Given the description of an element on the screen output the (x, y) to click on. 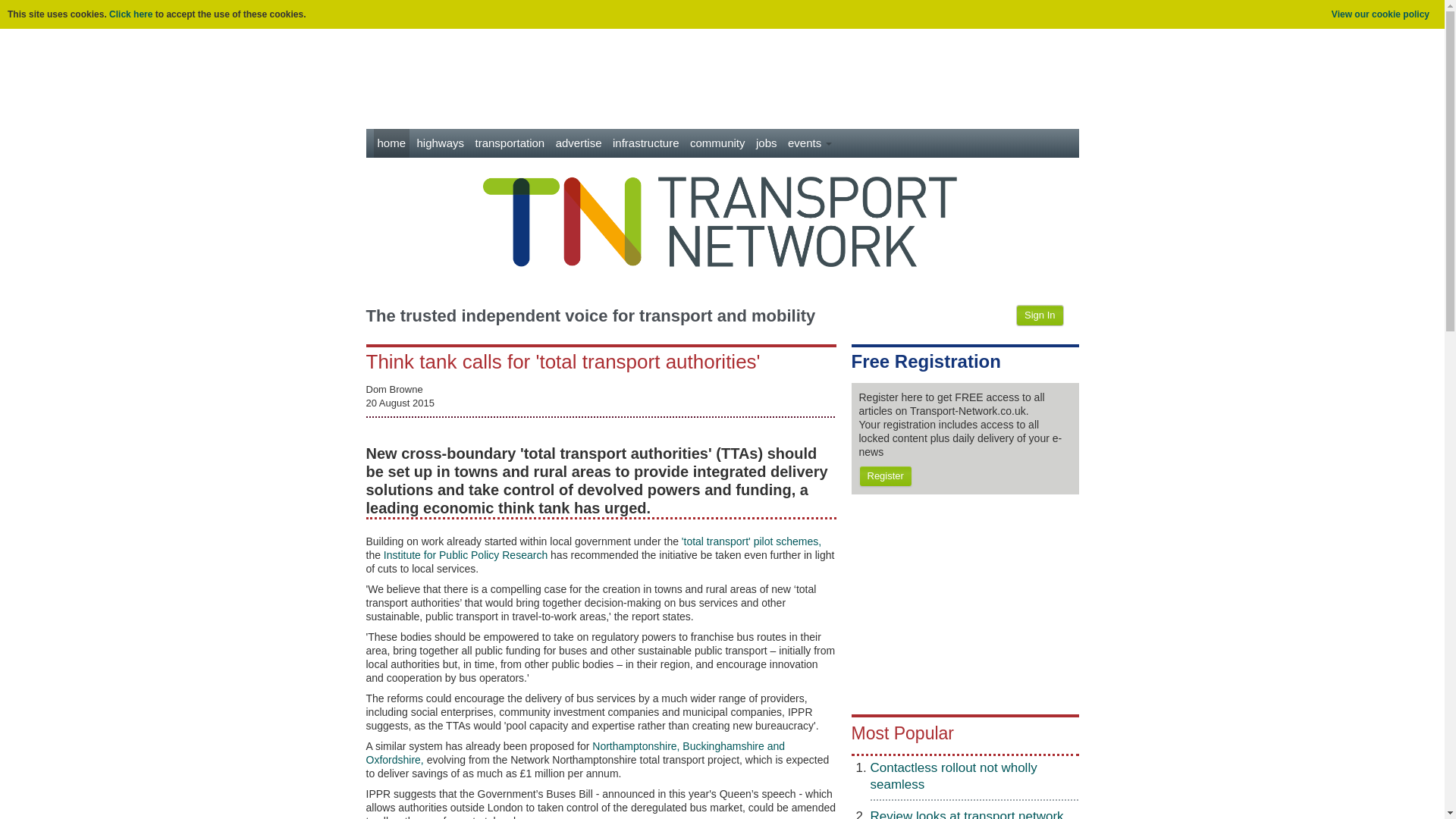
Sign In (1039, 315)
infrastructure (645, 142)
jobs (766, 142)
community (717, 142)
Click here (130, 14)
Northamptonshire, Buckinghamshire and Oxfordshire, (574, 752)
transportation (509, 142)
highways (439, 142)
advertise (578, 142)
events (809, 142)
